Given the description of an element on the screen output the (x, y) to click on. 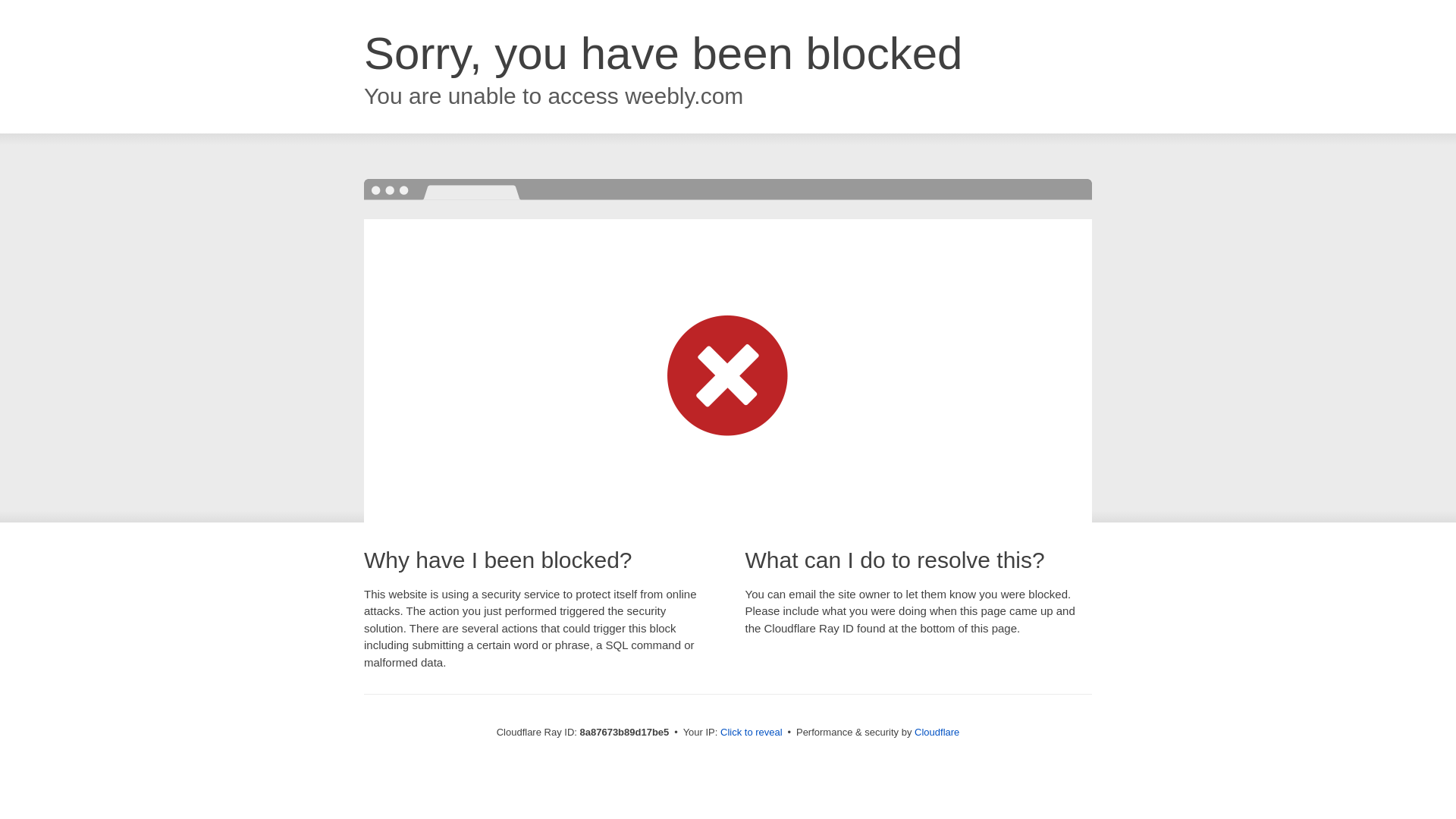
Cloudflare (936, 731)
Click to reveal (751, 732)
